Given the description of an element on the screen output the (x, y) to click on. 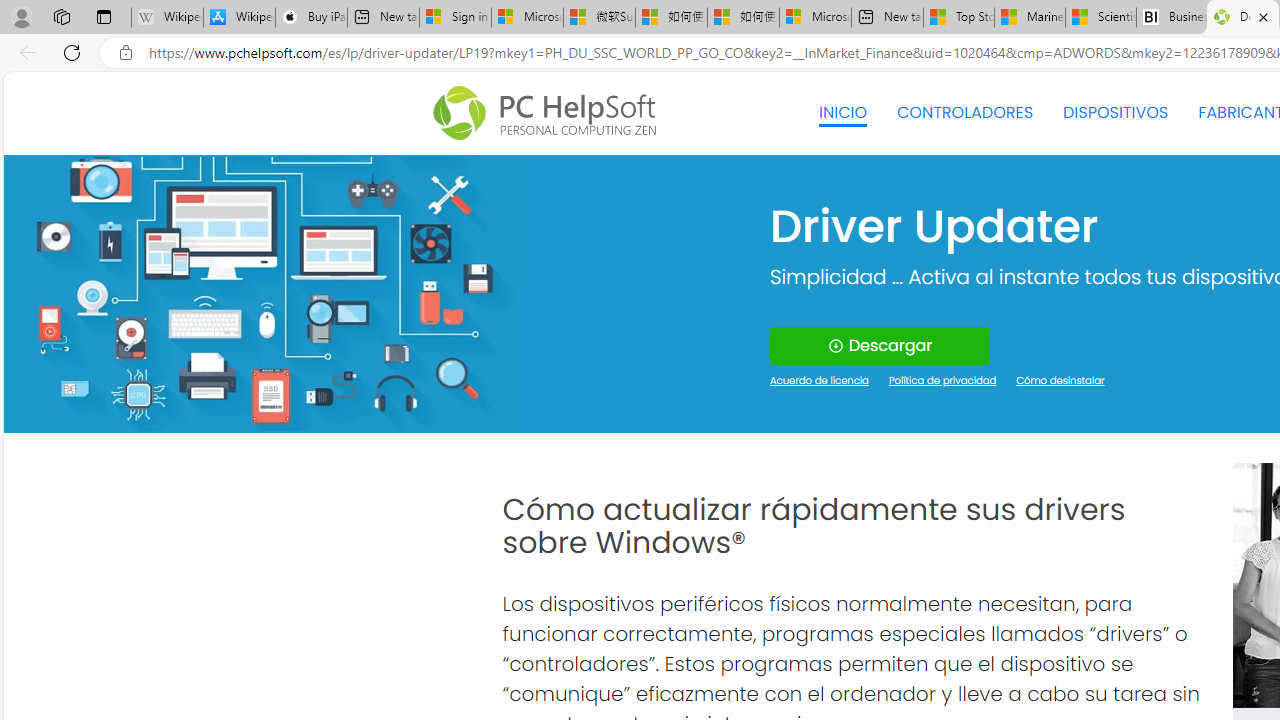
Microsoft Services Agreement (527, 17)
Logo Personal Computing (550, 113)
Microsoft account | Account Checkup (815, 17)
DISPOSITIVOS (1115, 112)
Download Icon (834, 345)
Logo Personal Computing (550, 113)
Wikipedia - Sleeping (167, 17)
Buy iPad - Apple (311, 17)
Download Icon Descargar (879, 345)
Marine life - MSN (1029, 17)
